Given the description of an element on the screen output the (x, y) to click on. 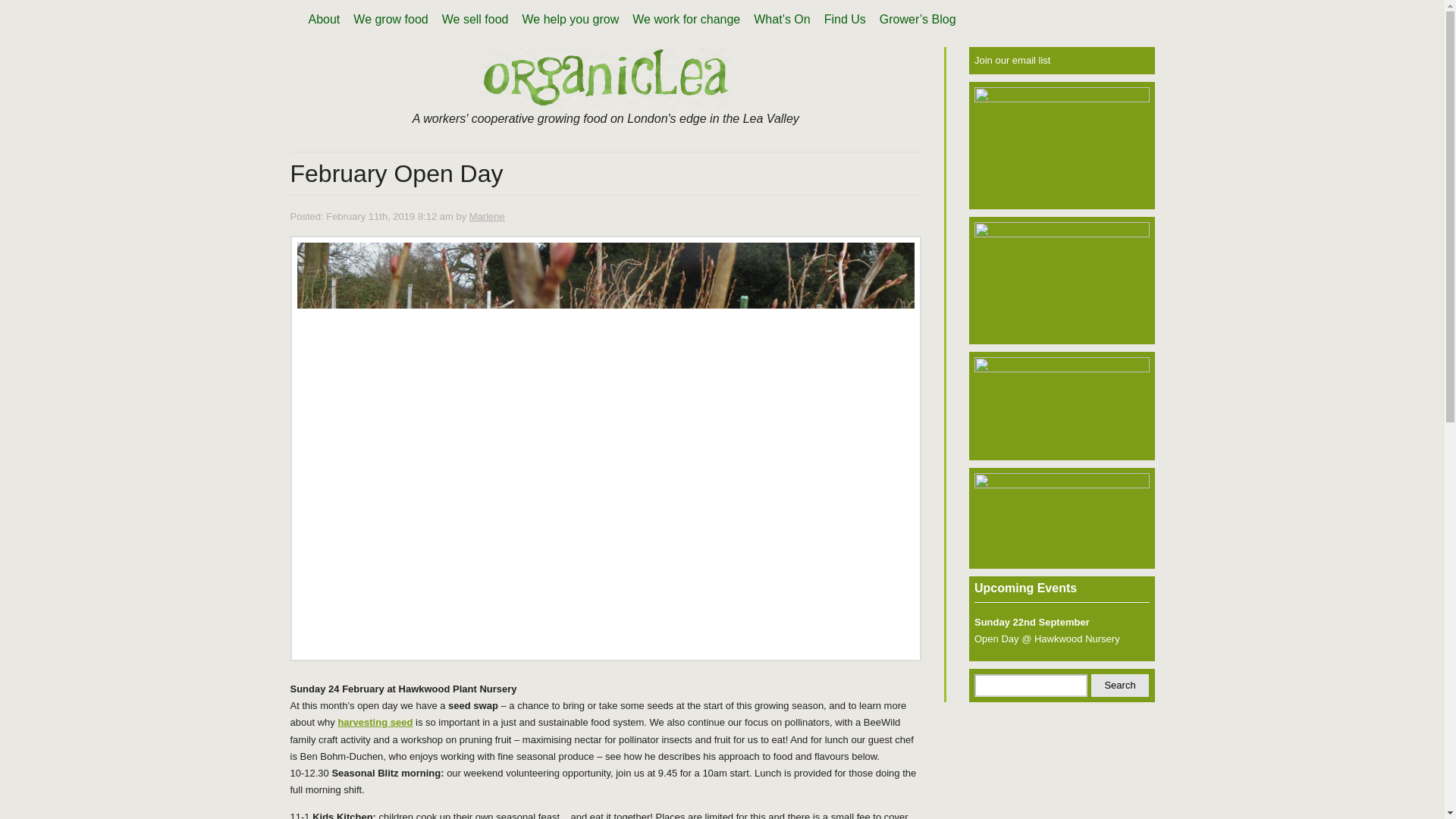
We work for change (686, 19)
We grow food (389, 19)
We sell food (475, 19)
Posts by Marlene (486, 215)
About (324, 19)
harvesting seed (374, 722)
We help you grow (570, 19)
Search (1120, 685)
Find Us (844, 19)
Marlene (486, 215)
